Given the description of an element on the screen output the (x, y) to click on. 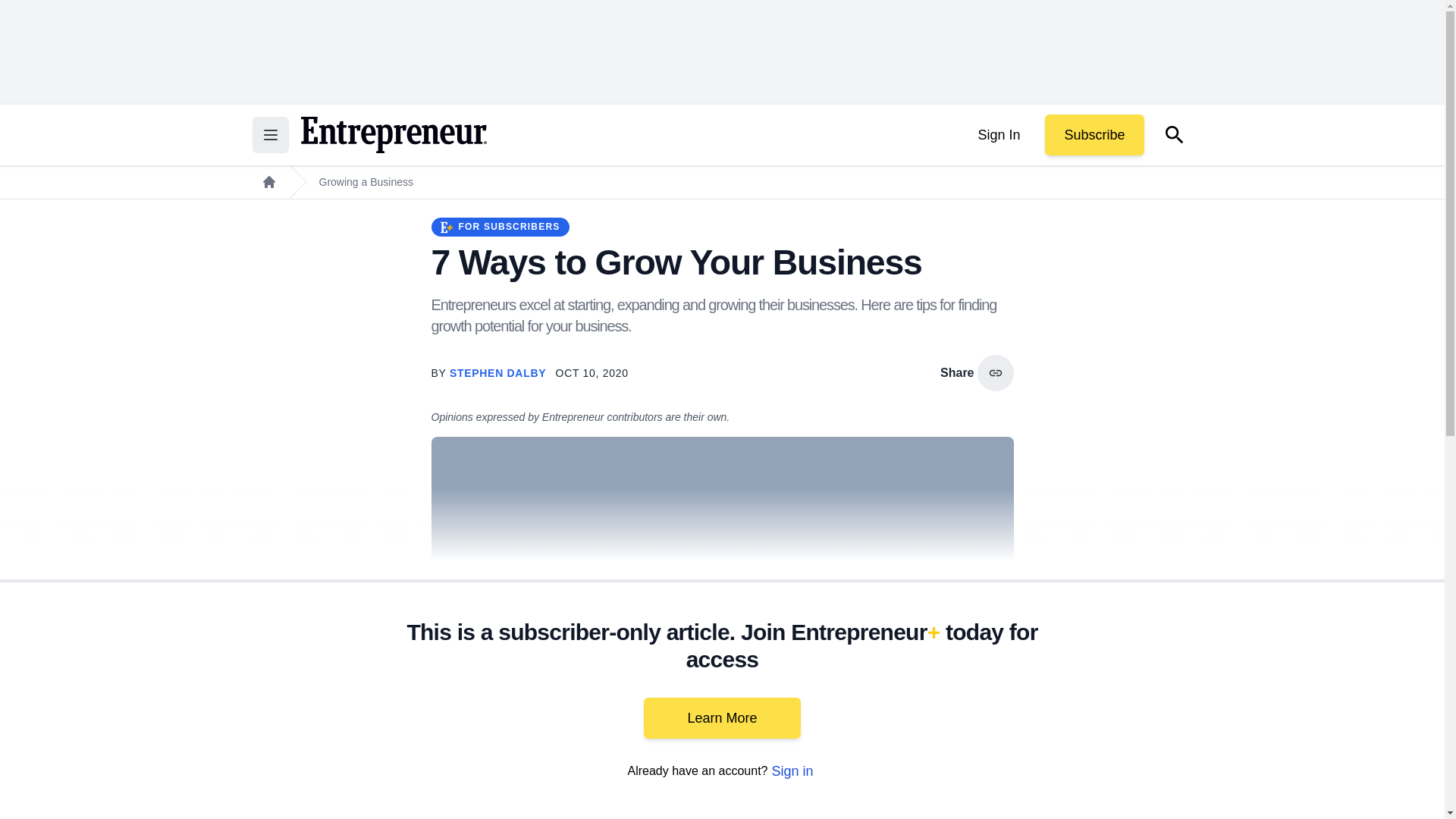
Return to the home page (392, 135)
Sign In (998, 134)
Subscribe (1093, 134)
copy (994, 372)
